Given the description of an element on the screen output the (x, y) to click on. 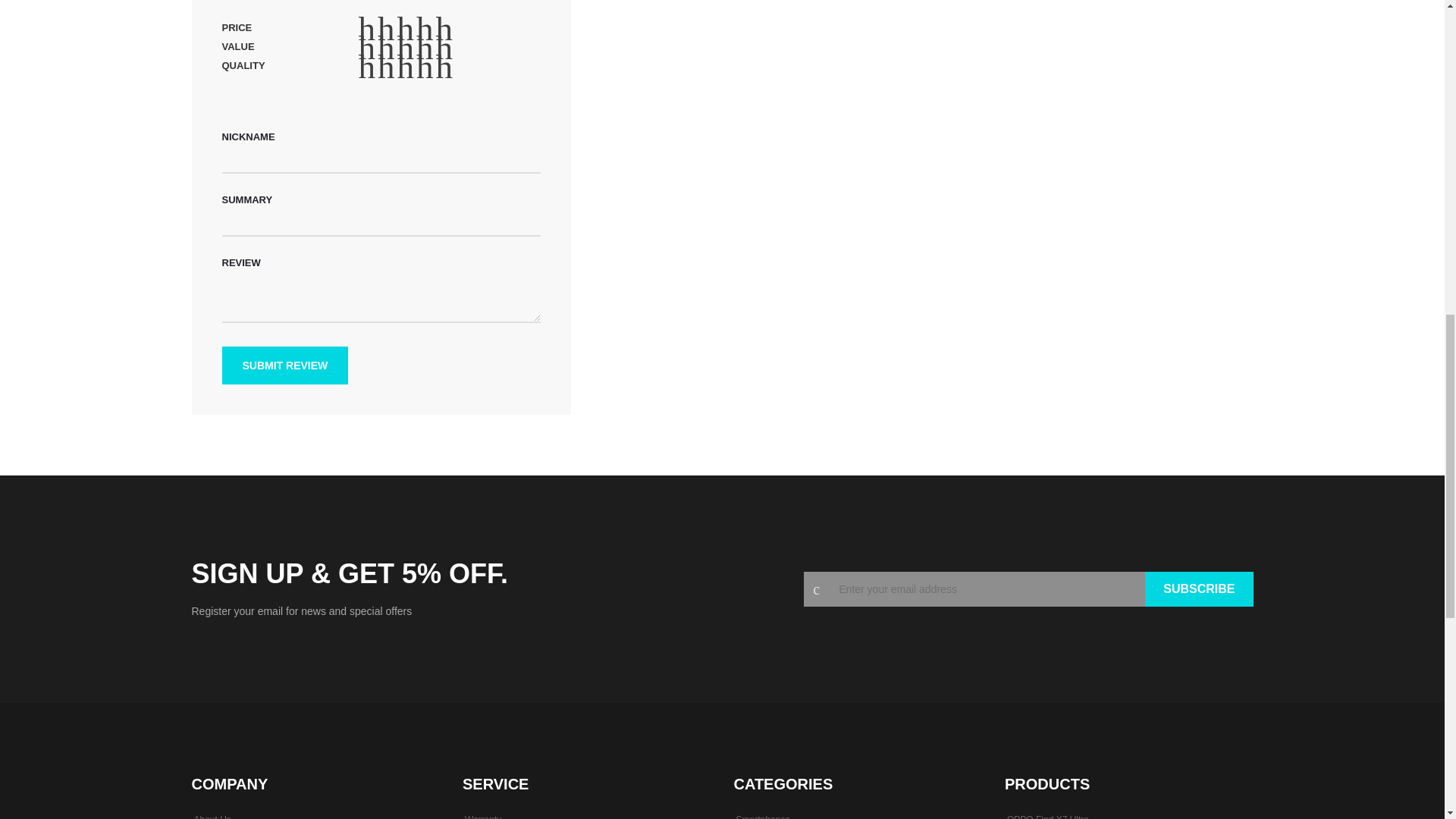
1 star (367, 66)
1 star (367, 28)
2 stars (377, 28)
2 stars (377, 66)
1 star (367, 47)
3 stars (387, 47)
